Given the description of an element on the screen output the (x, y) to click on. 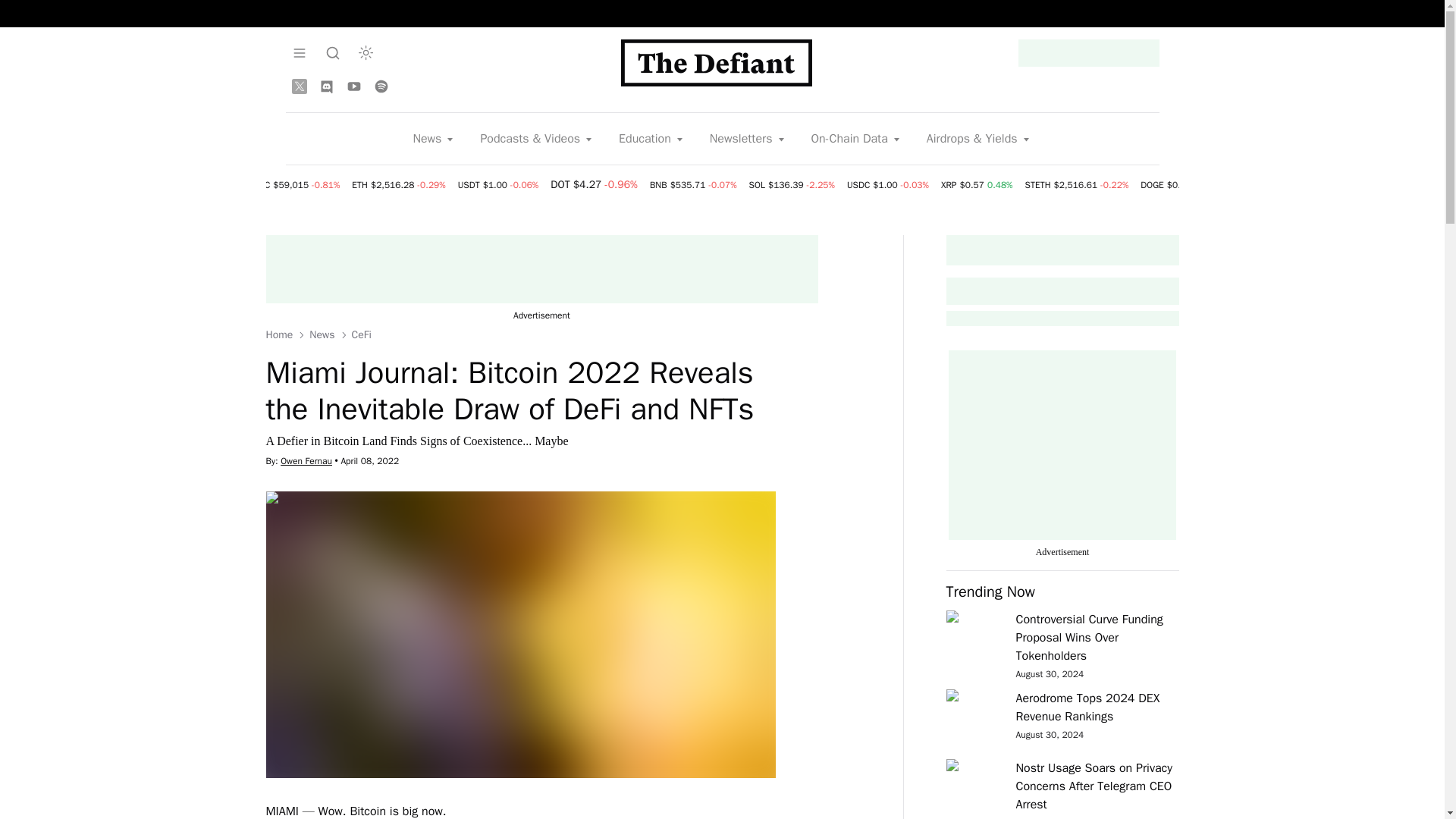
Toggle theme (365, 52)
Twitter (298, 86)
On-Chain Data (856, 138)
Spotify (380, 86)
Newsletters (748, 138)
Discord (326, 85)
News (433, 138)
Education (652, 138)
Toggle navigation menu (332, 52)
Team Menu (299, 52)
